Given the description of an element on the screen output the (x, y) to click on. 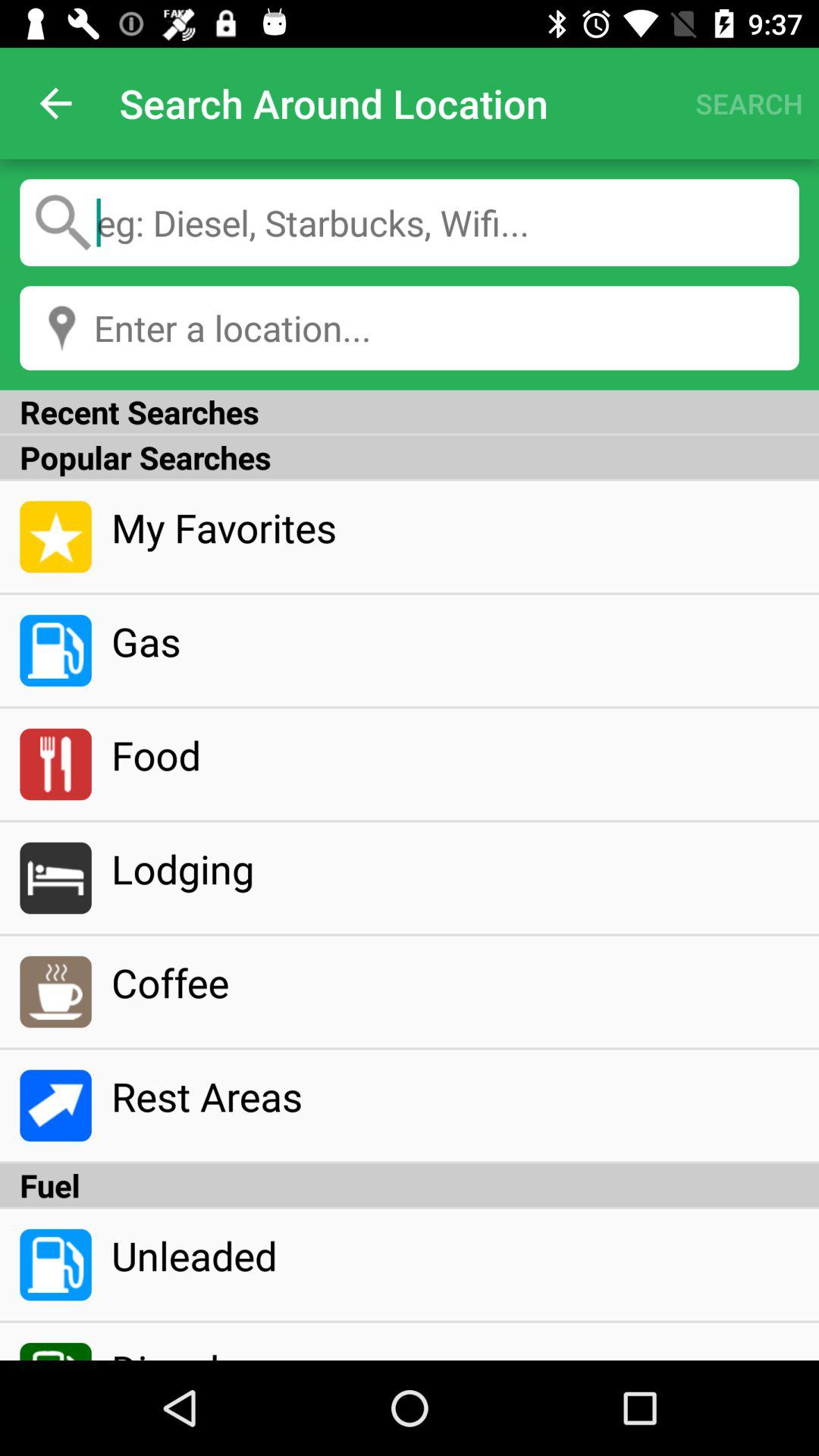
select lodging icon (455, 868)
